Given the description of an element on the screen output the (x, y) to click on. 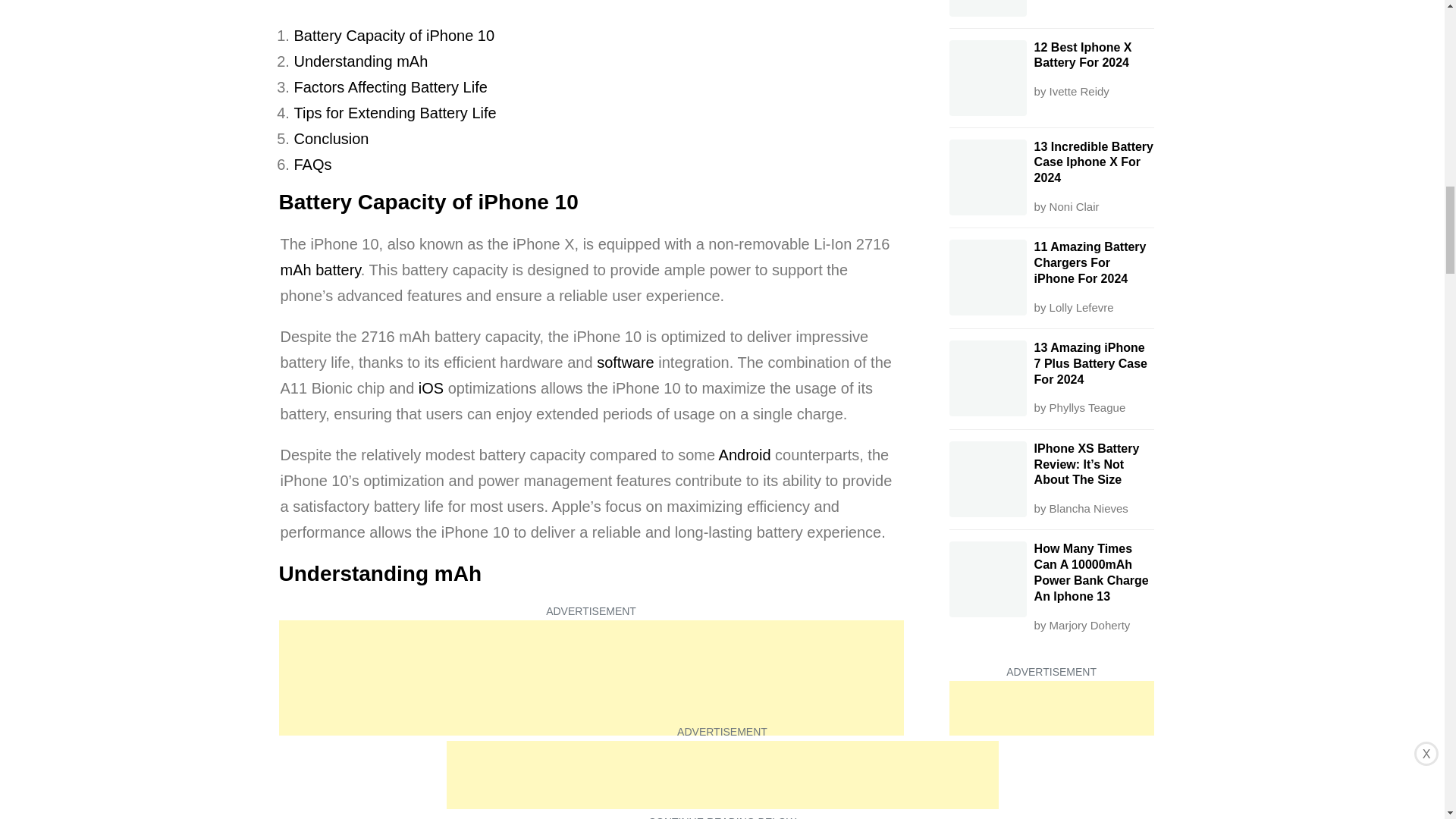
Android (745, 454)
iOS (431, 388)
mAh battery (321, 269)
software (624, 362)
